Given the description of an element on the screen output the (x, y) to click on. 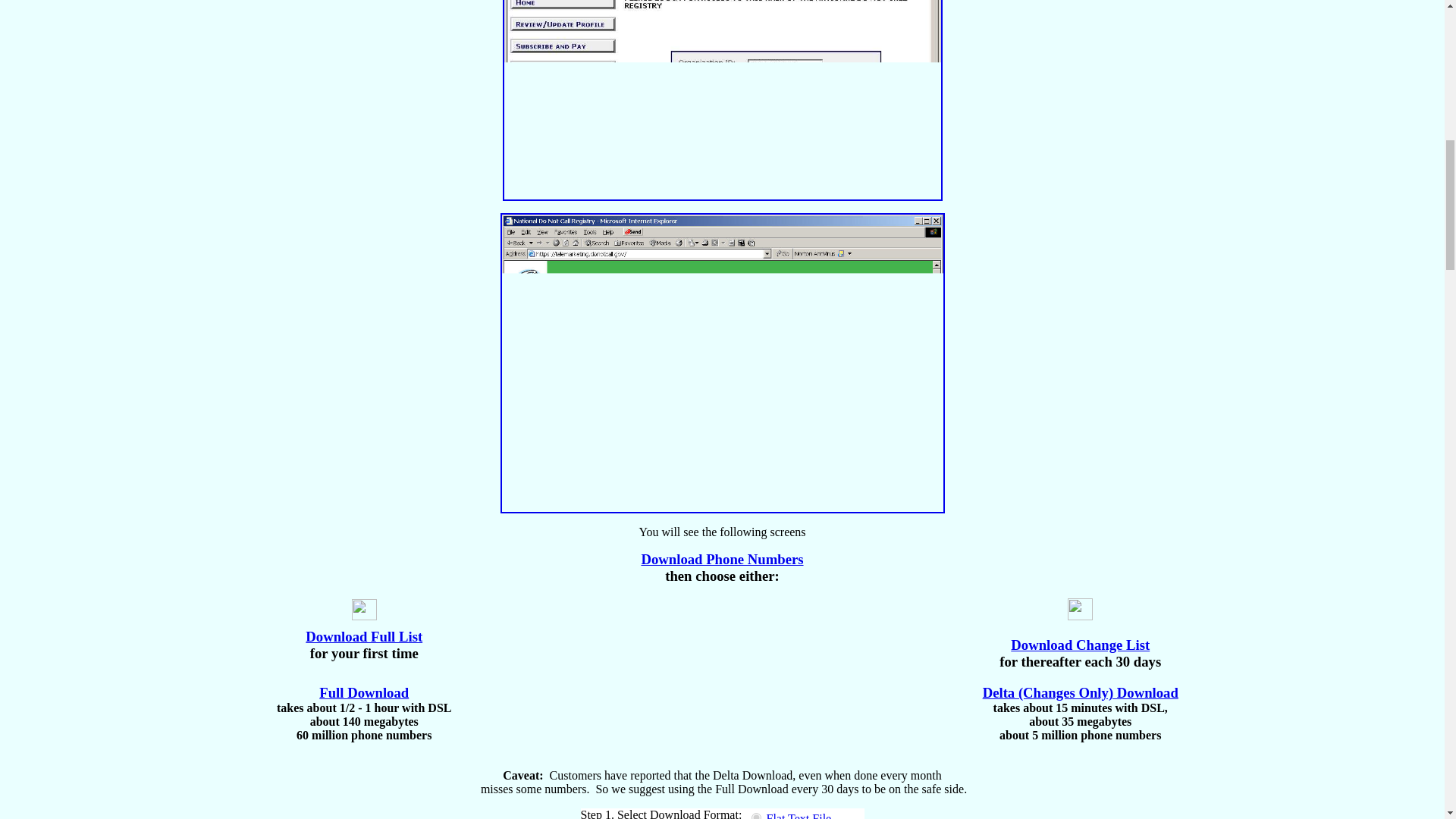
Full Download (363, 692)
Flat (755, 816)
Download Change List (1080, 644)
Flat Text File (798, 815)
Download Phone Numbers (721, 559)
Text File (798, 815)
Download Full List (363, 636)
